Given the description of an element on the screen output the (x, y) to click on. 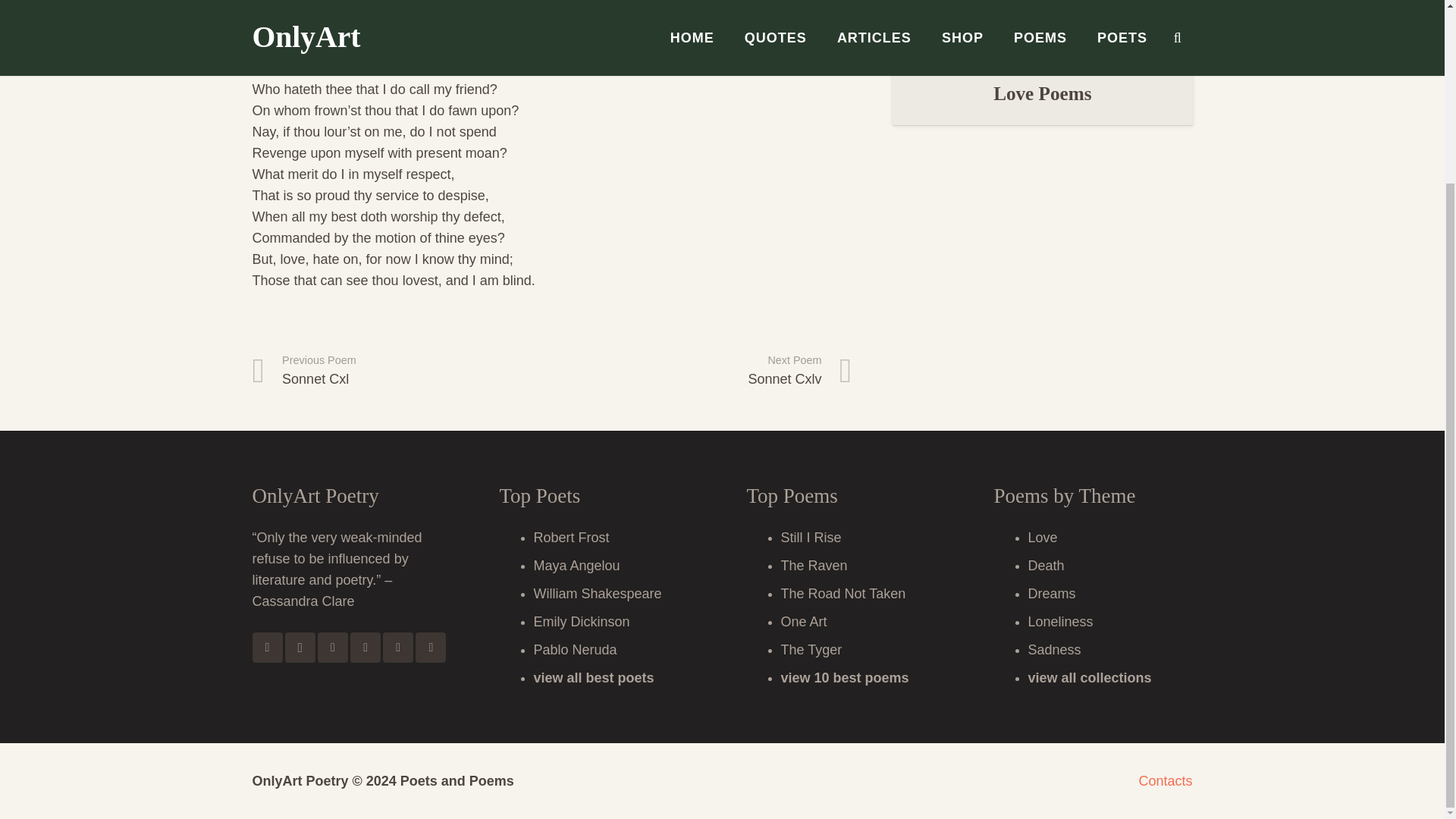
Reddit (365, 647)
Sonnet Cxlv (701, 370)
Sonnet Cxl (401, 370)
Love Poems (401, 370)
YouTube (1041, 93)
Pinterest (429, 647)
Instagram (701, 370)
Facebook (397, 647)
